Given the description of an element on the screen output the (x, y) to click on. 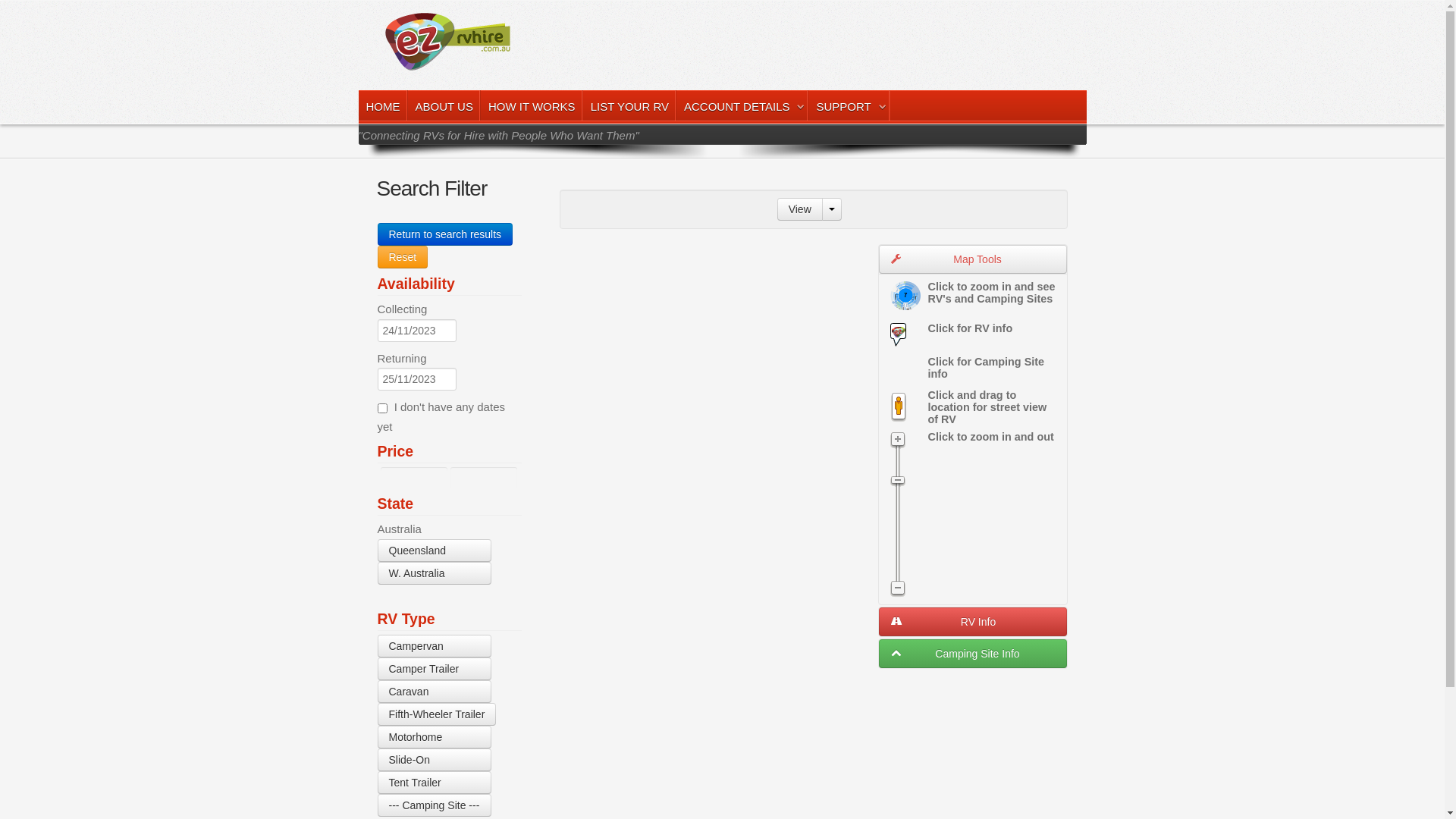
LIST YOUR RV Element type: text (629, 105)
Tent Trailer Element type: text (434, 782)
Return to search results Element type: text (445, 233)
ACCOUNT DETAILS Element type: text (742, 105)
Price Element type: text (395, 450)
ABOUT US Element type: text (443, 105)
1 Element type: text (382, 408)
W. Australia Element type: text (434, 572)
HOME Element type: text (382, 105)
Map Tools Element type: text (972, 258)
Campervan Element type: text (434, 645)
Availability Element type: text (416, 283)
Caravan Element type: text (434, 691)
--- Camping Site --- Element type: text (434, 804)
Reset Element type: text (402, 256)
Camper Trailer Element type: text (434, 668)
HOW IT WORKS Element type: text (531, 105)
View Element type: text (799, 208)
Motorhome Element type: text (434, 736)
Camping Site Info Element type: text (972, 653)
SUPPORT Element type: text (848, 105)
Slide-On Element type: text (434, 759)
Queensland Element type: text (434, 550)
RV Info Element type: text (972, 621)
State Element type: text (395, 503)
Fifth-Wheeler Trailer Element type: text (436, 713)
RV Type Element type: text (406, 618)
